Given the description of an element on the screen output the (x, y) to click on. 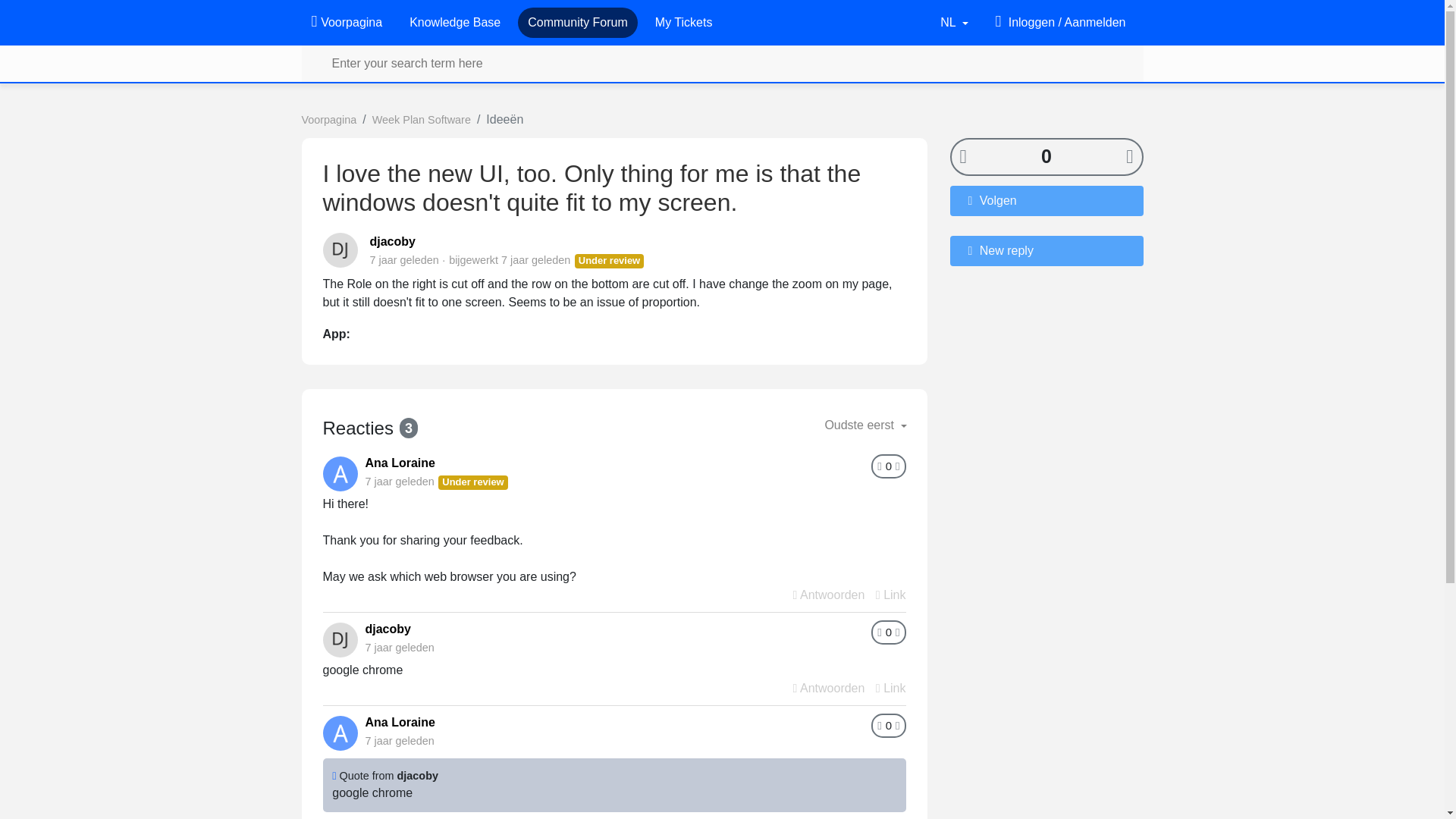
Voorpagina (346, 22)
New reply (1045, 250)
Antwoorden (828, 594)
djacoby (391, 241)
Week Plan Software (421, 119)
Knowledge Base (454, 22)
4 januari 2018 14:21 (399, 740)
Volgen (1045, 200)
Oudste eerst (865, 425)
Antwoorden (828, 687)
